Given the description of an element on the screen output the (x, y) to click on. 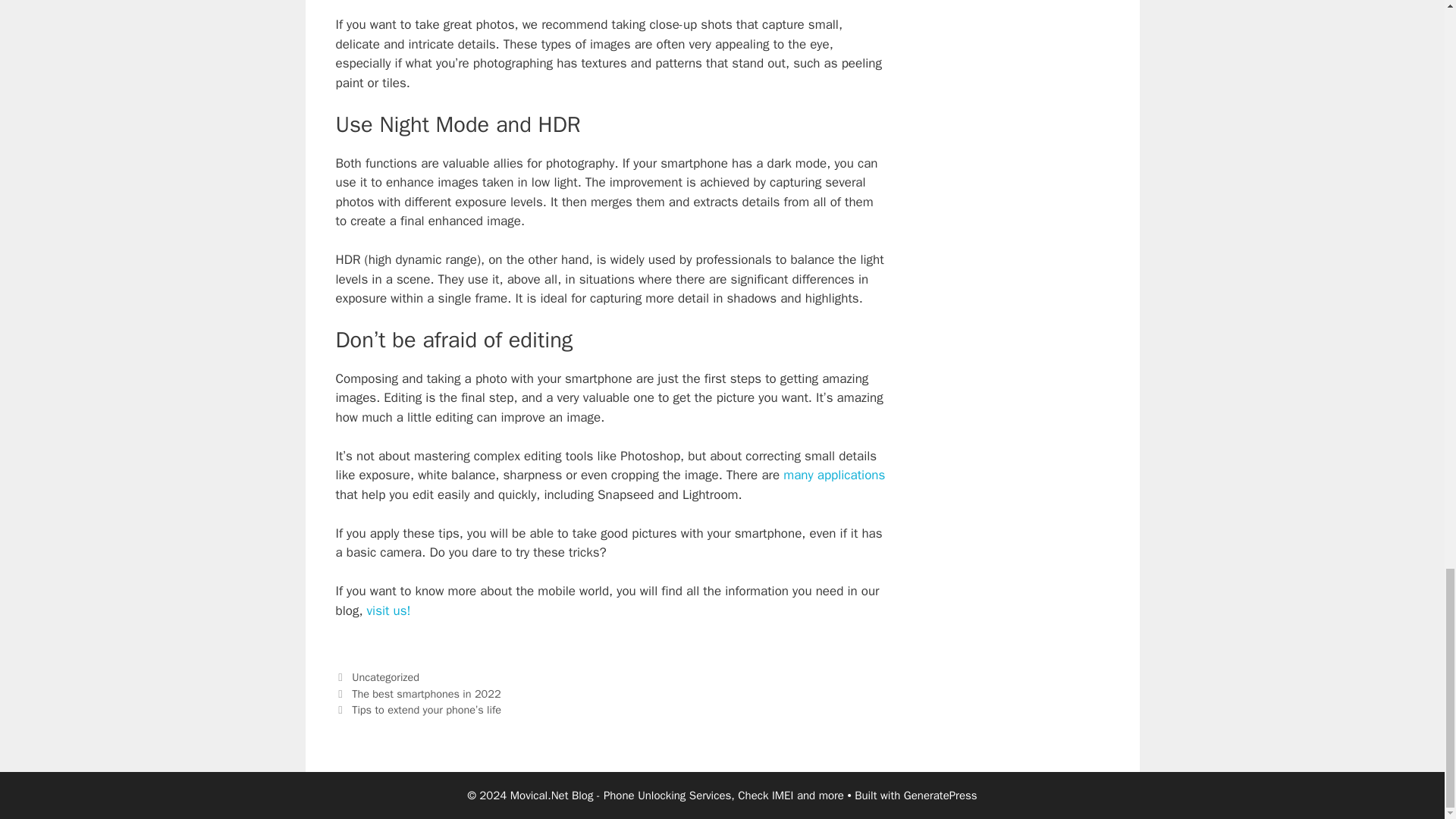
The best smartphones in 2022 (426, 694)
visit us! (388, 610)
Uncategorized (385, 676)
many applications (834, 474)
GeneratePress (940, 795)
